Given the description of an element on the screen output the (x, y) to click on. 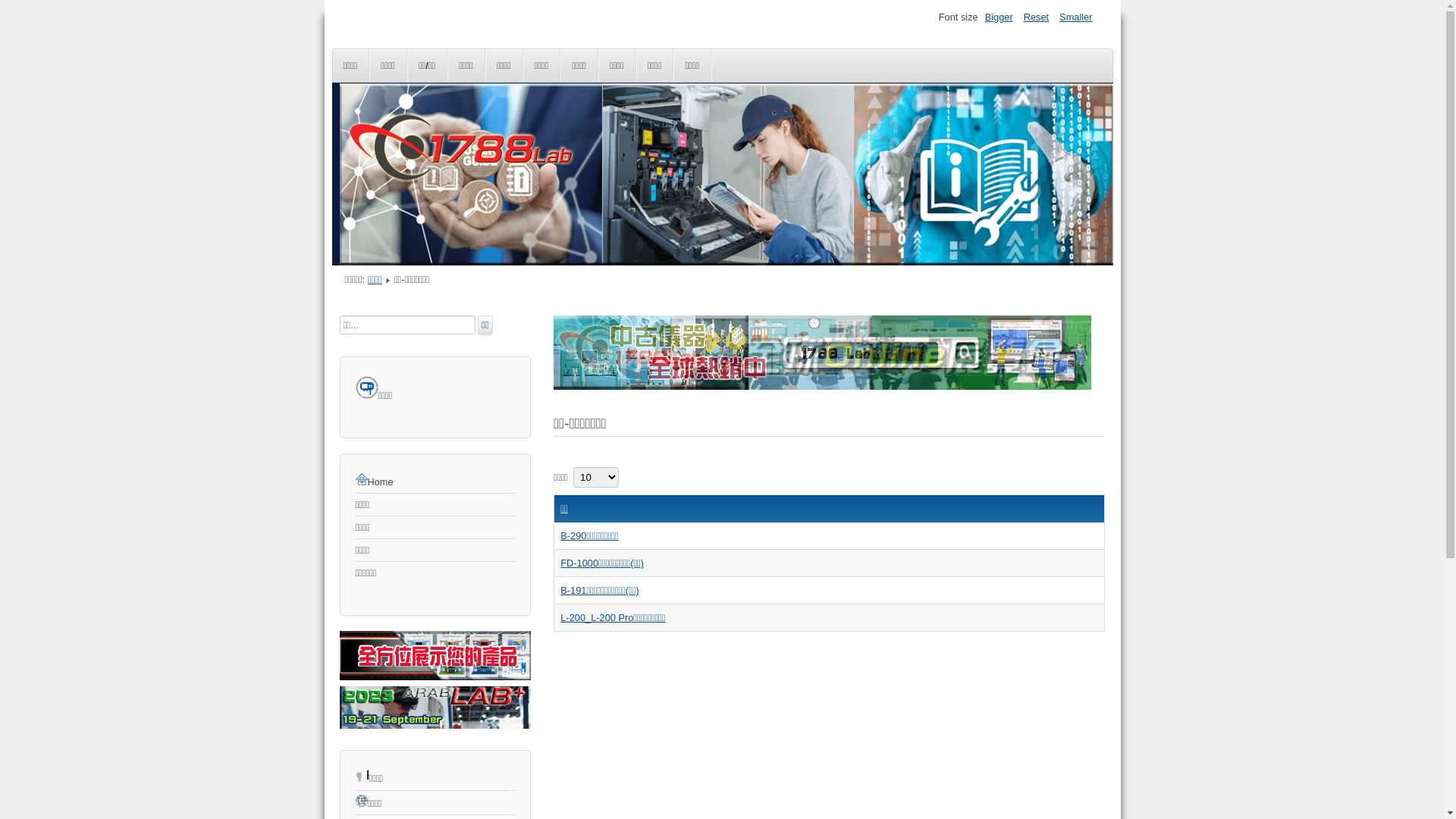
HOME-L1 Element type: hover (435, 725)
HOME-L Element type: hover (435, 676)
Bigger Element type: text (998, 16)
Smaller Element type: text (1075, 16)
Reset Element type: text (1035, 16)
Home Element type: text (434, 481)
HOME-T Element type: hover (822, 386)
